Given the description of an element on the screen output the (x, y) to click on. 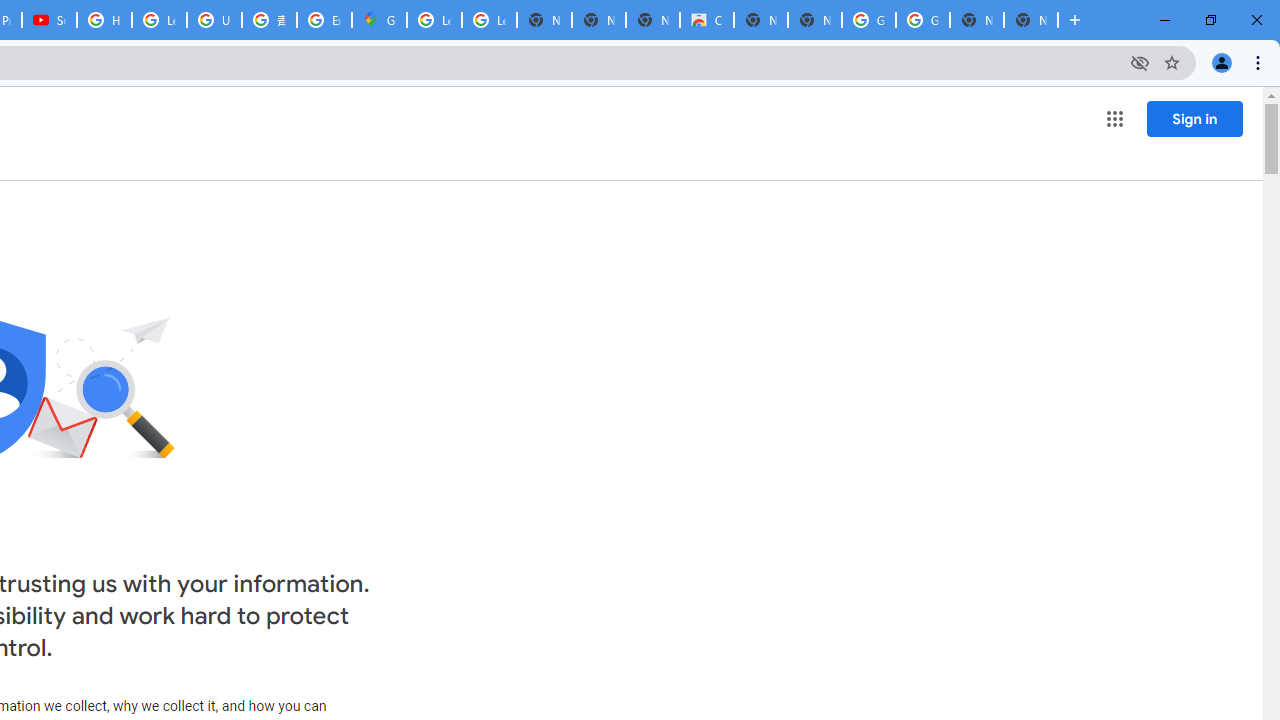
Google Images (868, 20)
Explore new street-level details - Google Maps Help (324, 20)
Subscriptions - YouTube (48, 20)
